Given the description of an element on the screen output the (x, y) to click on. 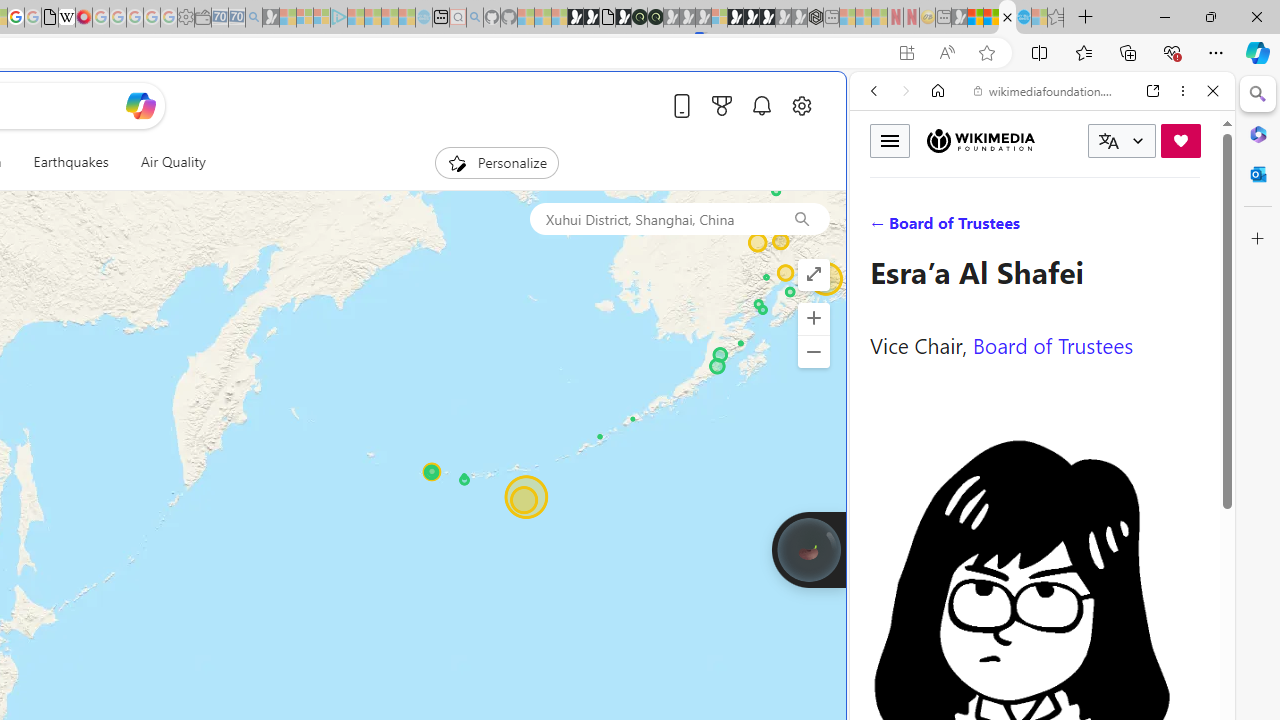
Wikimedia Foundation (980, 141)
Search Filter, VIDEOS (1006, 228)
Personalize (496, 162)
Air Quality (165, 162)
Air Quality (172, 162)
Search Filter, Search Tools (1093, 228)
Services - Maintenance | Sky Blue Bikes - Sky Blue Bikes (1023, 17)
